Given the description of an element on the screen output the (x, y) to click on. 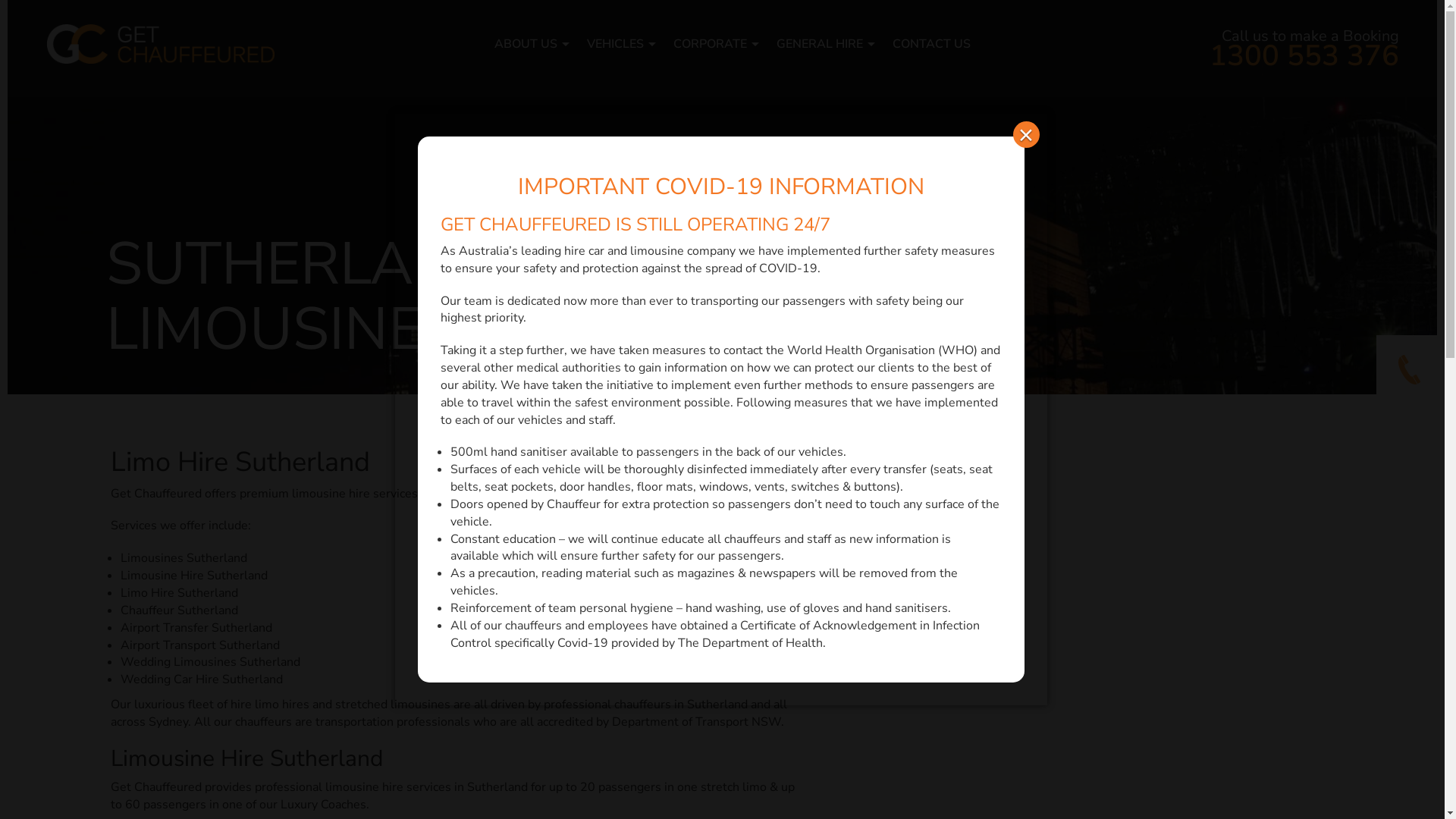
GENERAL HIRE Element type: text (819, 43)
ABOUT US Element type: text (525, 43)
phone Element type: text (1410, 369)
CORPORATE Element type: text (709, 43)
CONTACT US Element type: text (931, 43)
Get Chauffeured Element type: hover (160, 43)
1300 553 376 Element type: text (1304, 55)
VEHICLES Element type: text (614, 43)
